Given the description of an element on the screen output the (x, y) to click on. 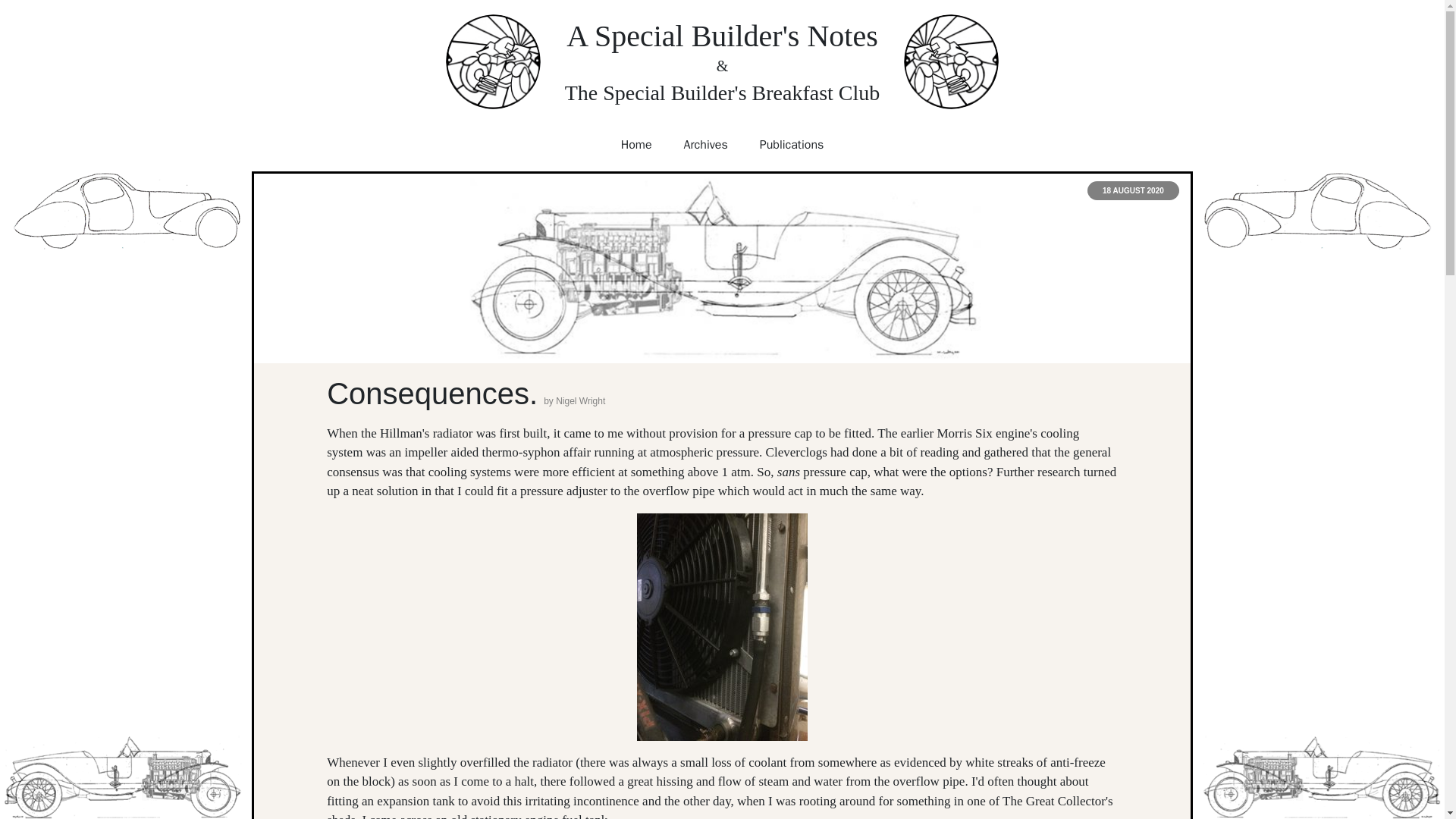
Archives (706, 144)
Home (636, 144)
Publications (791, 144)
